Given the description of an element on the screen output the (x, y) to click on. 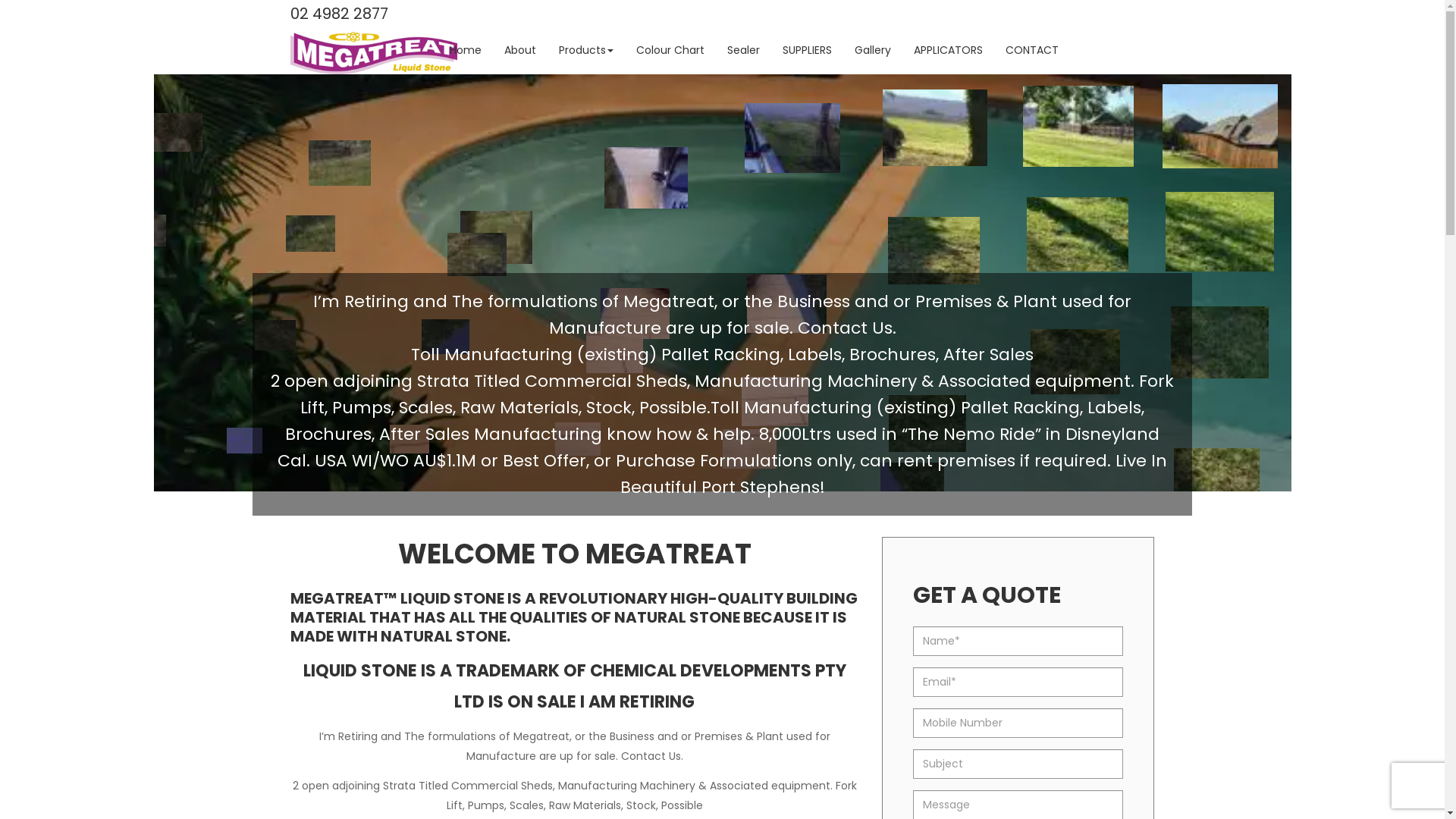
Products Element type: text (585, 50)
Gallery Element type: text (872, 50)
Home Element type: text (465, 50)
Colour Chart Element type: text (669, 50)
CONTACT Element type: text (1031, 50)
About Element type: text (519, 50)
SUPPLIERS Element type: text (806, 50)
Sealer Element type: text (743, 50)
Megatreat Element type: hover (372, 51)
APPLICATORS Element type: text (948, 50)
02 4982 2877 Element type: text (338, 14)
